Given the description of an element on the screen output the (x, y) to click on. 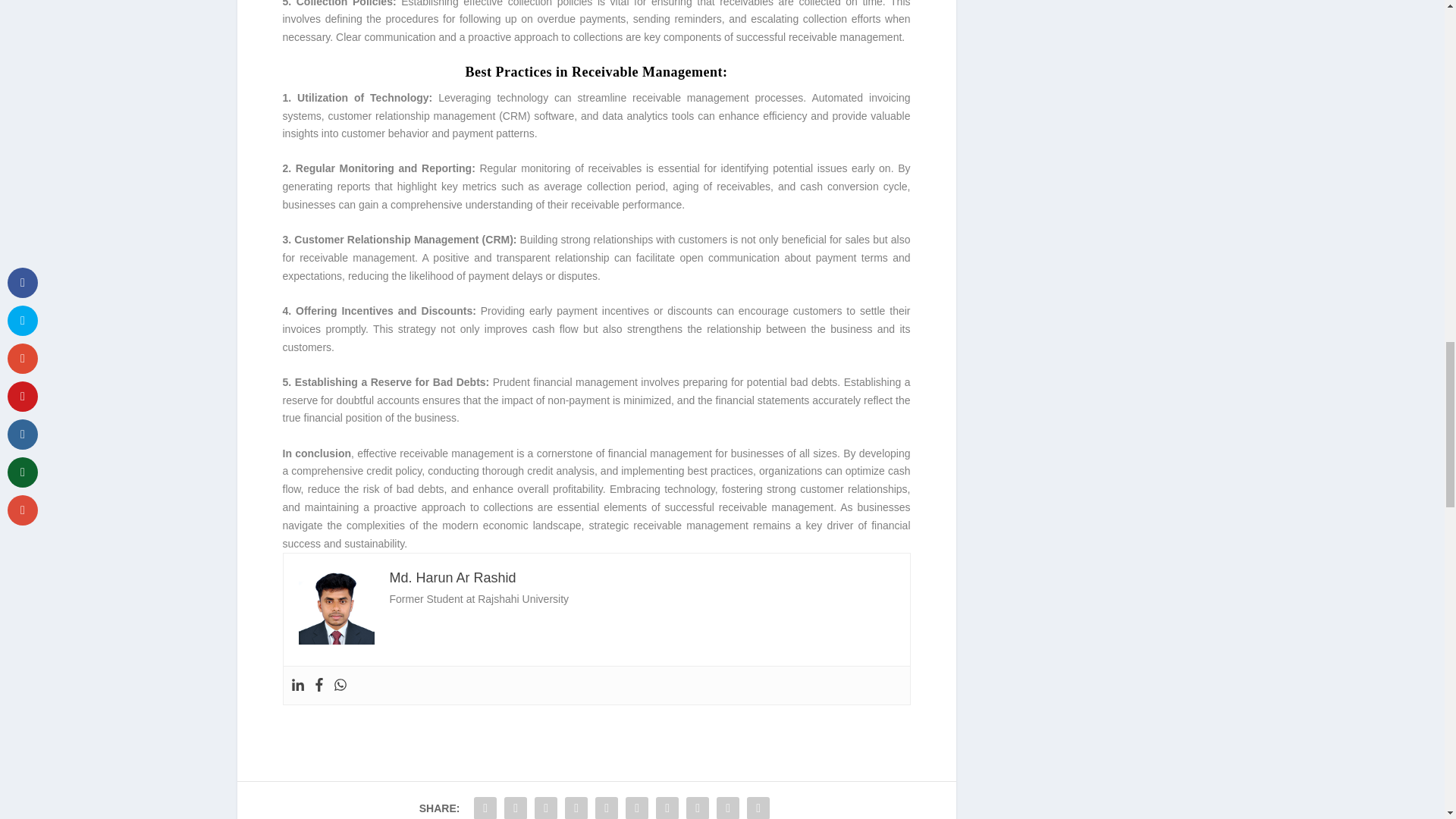
Facebook (319, 685)
Whatsapp (340, 685)
Receivable Management in Financial Management (336, 606)
Linkedin (297, 685)
